Given the description of an element on the screen output the (x, y) to click on. 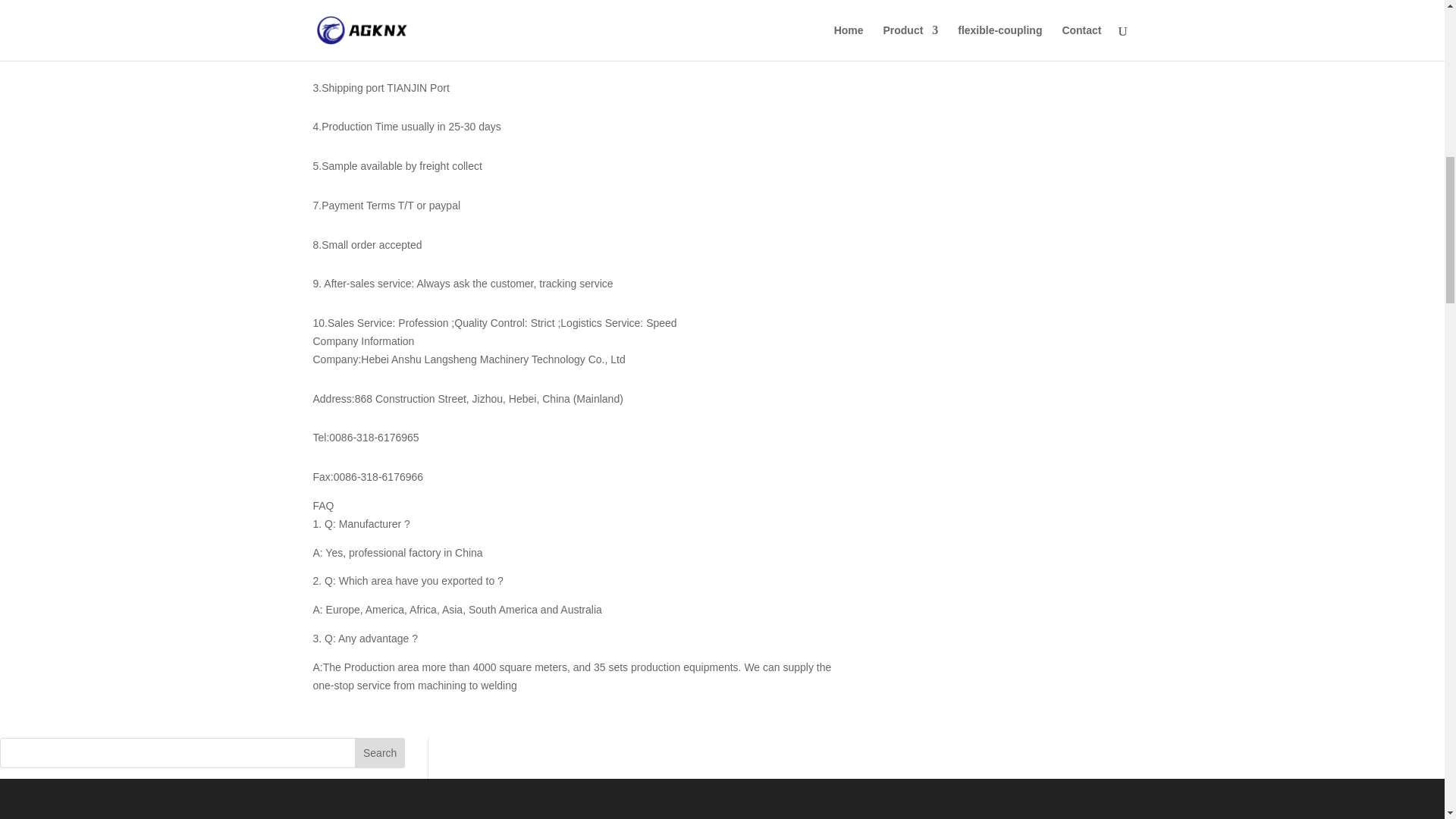
Search (379, 752)
Search (379, 752)
